Given the description of an element on the screen output the (x, y) to click on. 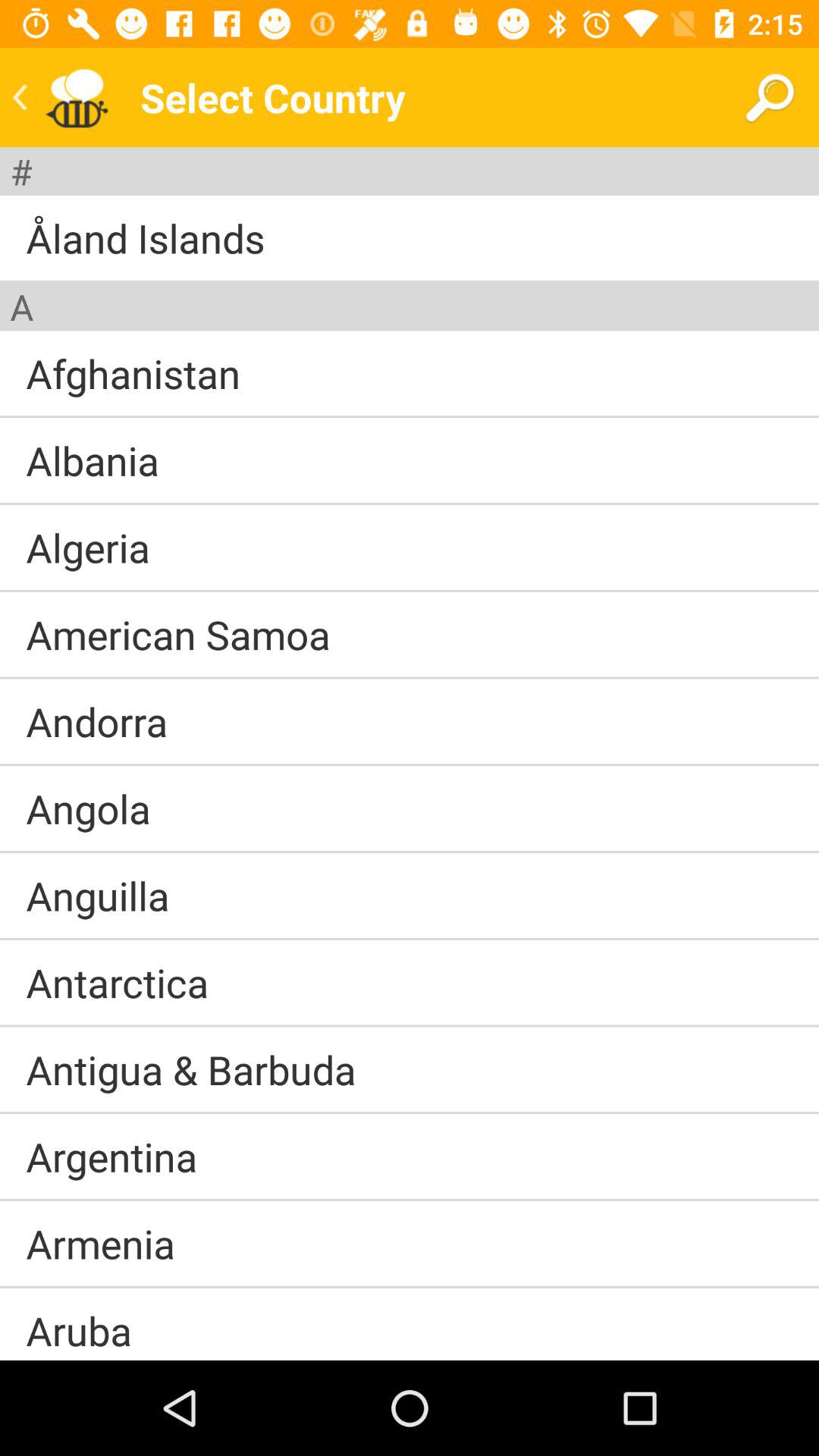
swipe to the angola icon (88, 808)
